Given the description of an element on the screen output the (x, y) to click on. 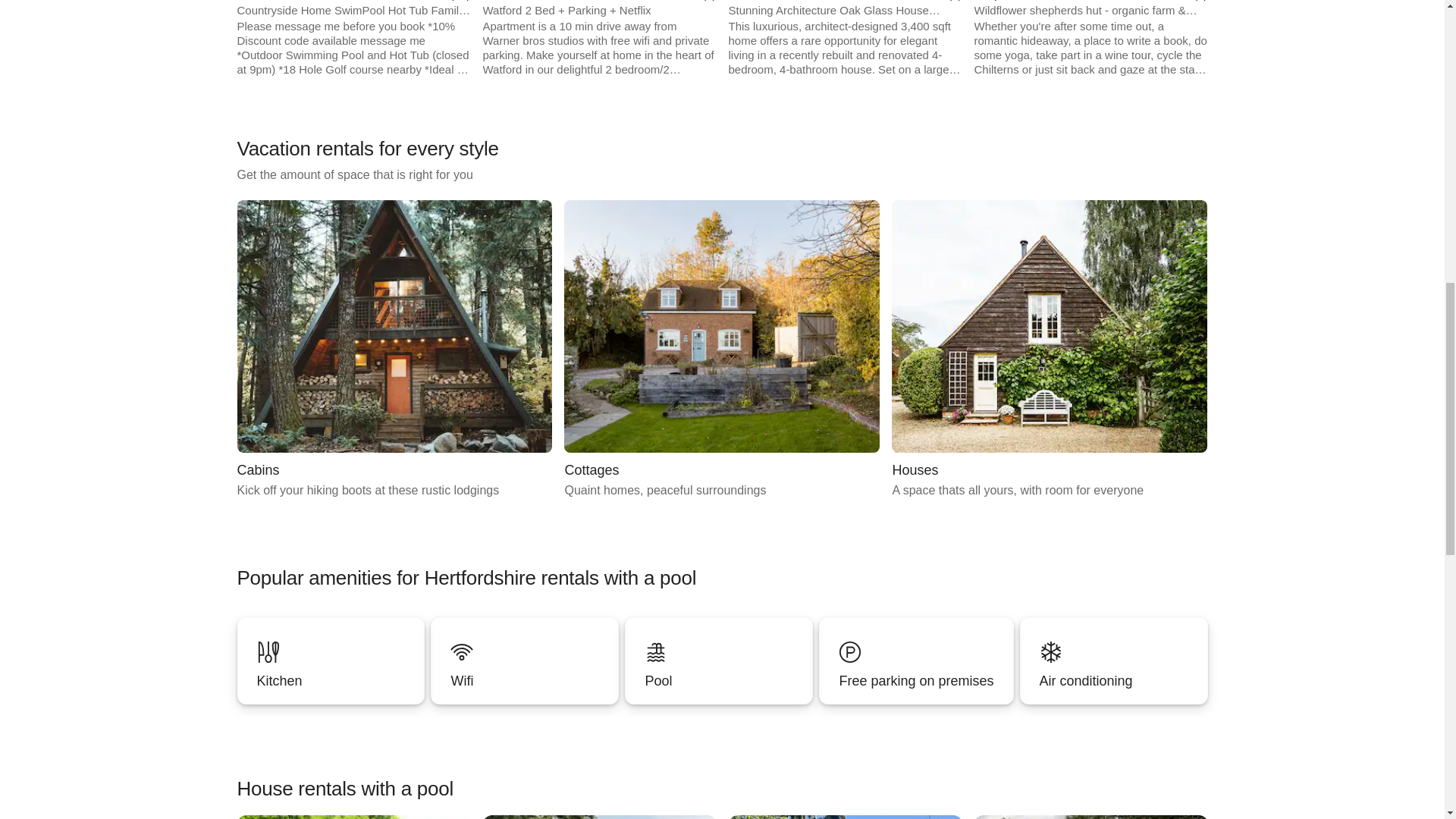
Pool (718, 660)
Wifi (524, 660)
Air conditioning (721, 349)
Pool (1113, 680)
Kitchen (718, 660)
Wifi (330, 660)
Air conditioning (524, 660)
